Given the description of an element on the screen output the (x, y) to click on. 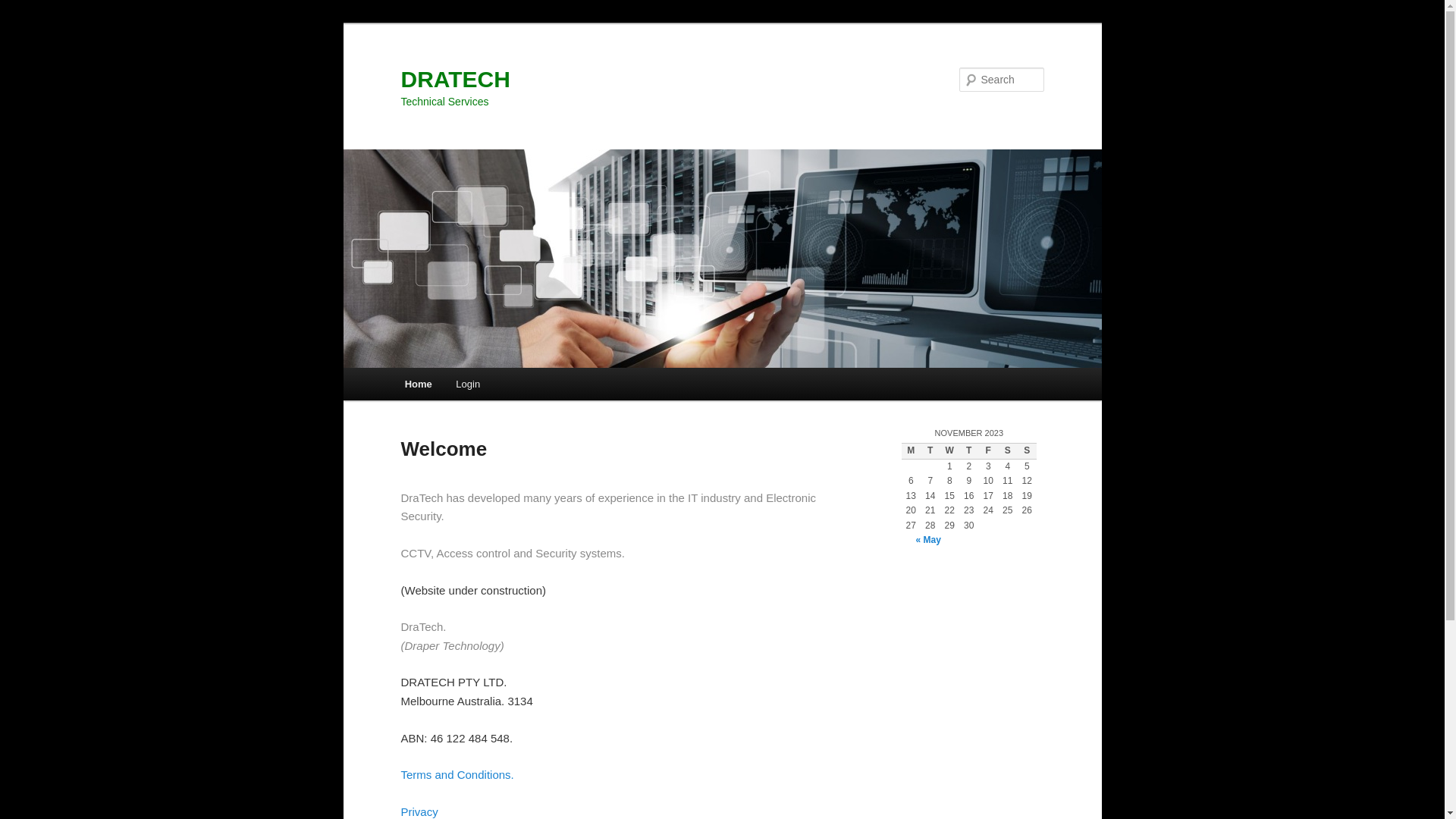
Login Element type: text (468, 383)
Home Element type: text (418, 383)
Search Element type: text (24, 8)
DRATECH Element type: text (454, 78)
Privacy Element type: text (418, 811)
Terms and Conditions. Element type: text (456, 774)
Skip to primary content Element type: text (22, 22)
